Given the description of an element on the screen output the (x, y) to click on. 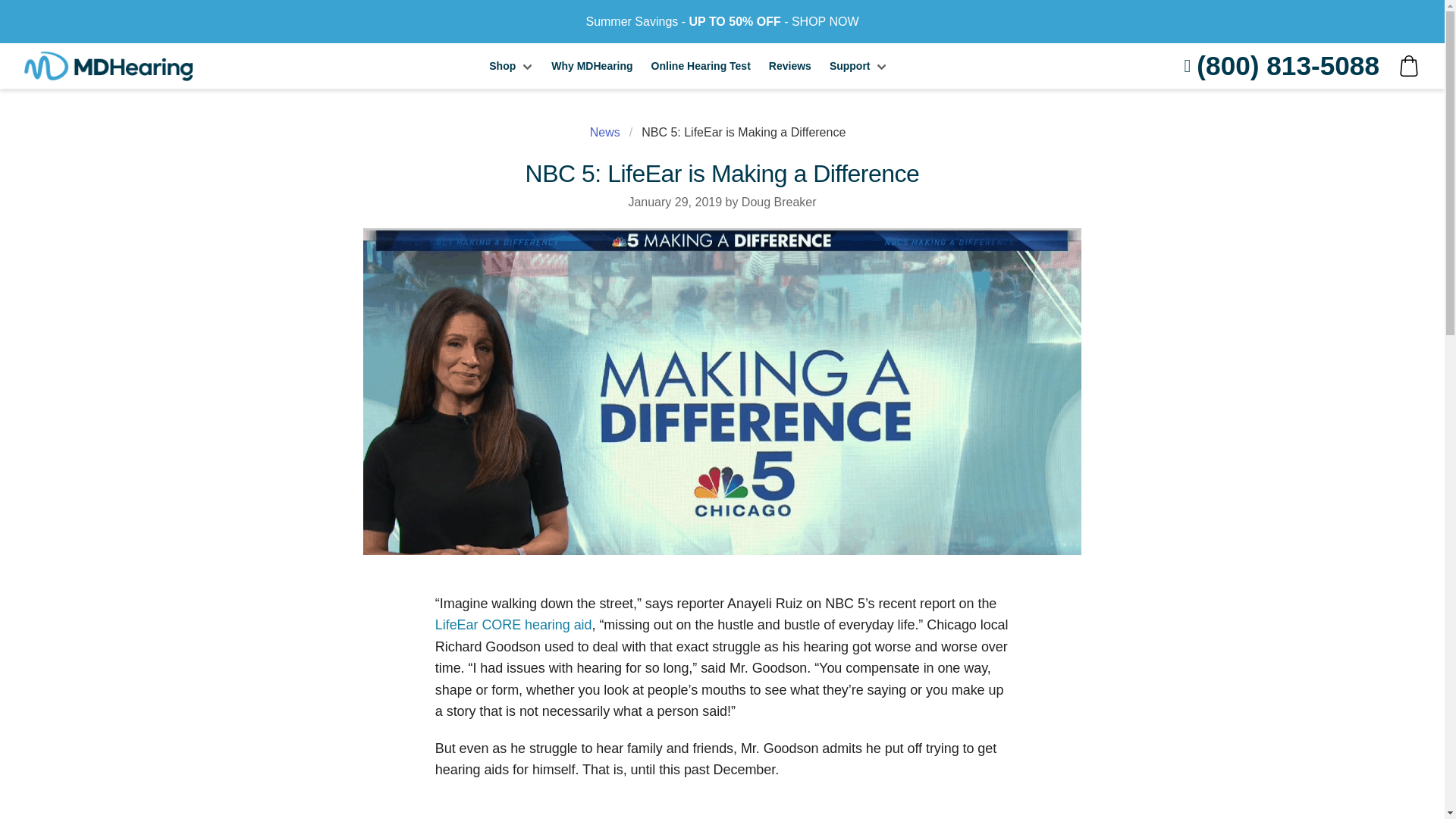
NBC 5: LifeEar is Making a Difference (742, 132)
Shop (510, 65)
Support (858, 65)
News (608, 132)
Reviews (790, 65)
Online Hearing Test (701, 65)
LifeEar CORE hearing aid (513, 624)
Why MDHearing (591, 65)
